Given the description of an element on the screen output the (x, y) to click on. 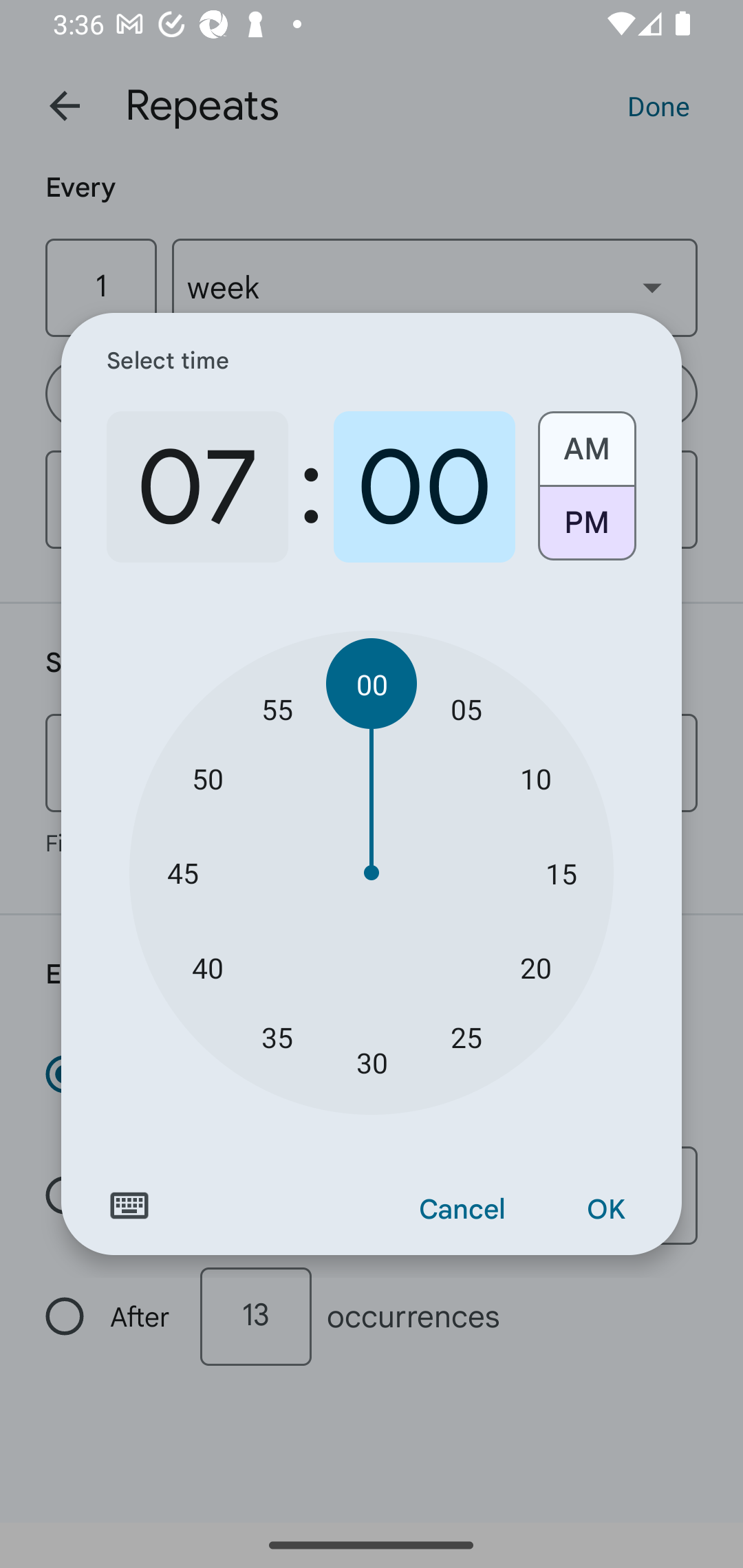
AM (586, 441)
07 7 o'clock (197, 486)
00 0 minutes (424, 486)
PM (586, 529)
00 00 minutes (371, 683)
55 55 minutes (276, 708)
05 05 minutes (466, 708)
50 50 minutes (207, 778)
10 10 minutes (535, 778)
45 45 minutes (182, 872)
15 15 minutes (561, 872)
40 40 minutes (207, 966)
20 20 minutes (535, 966)
35 35 minutes (276, 1035)
25 25 minutes (466, 1035)
30 30 minutes (371, 1062)
Switch to text input mode for the time input. (128, 1205)
Cancel (462, 1209)
OK (605, 1209)
